Given the description of an element on the screen output the (x, y) to click on. 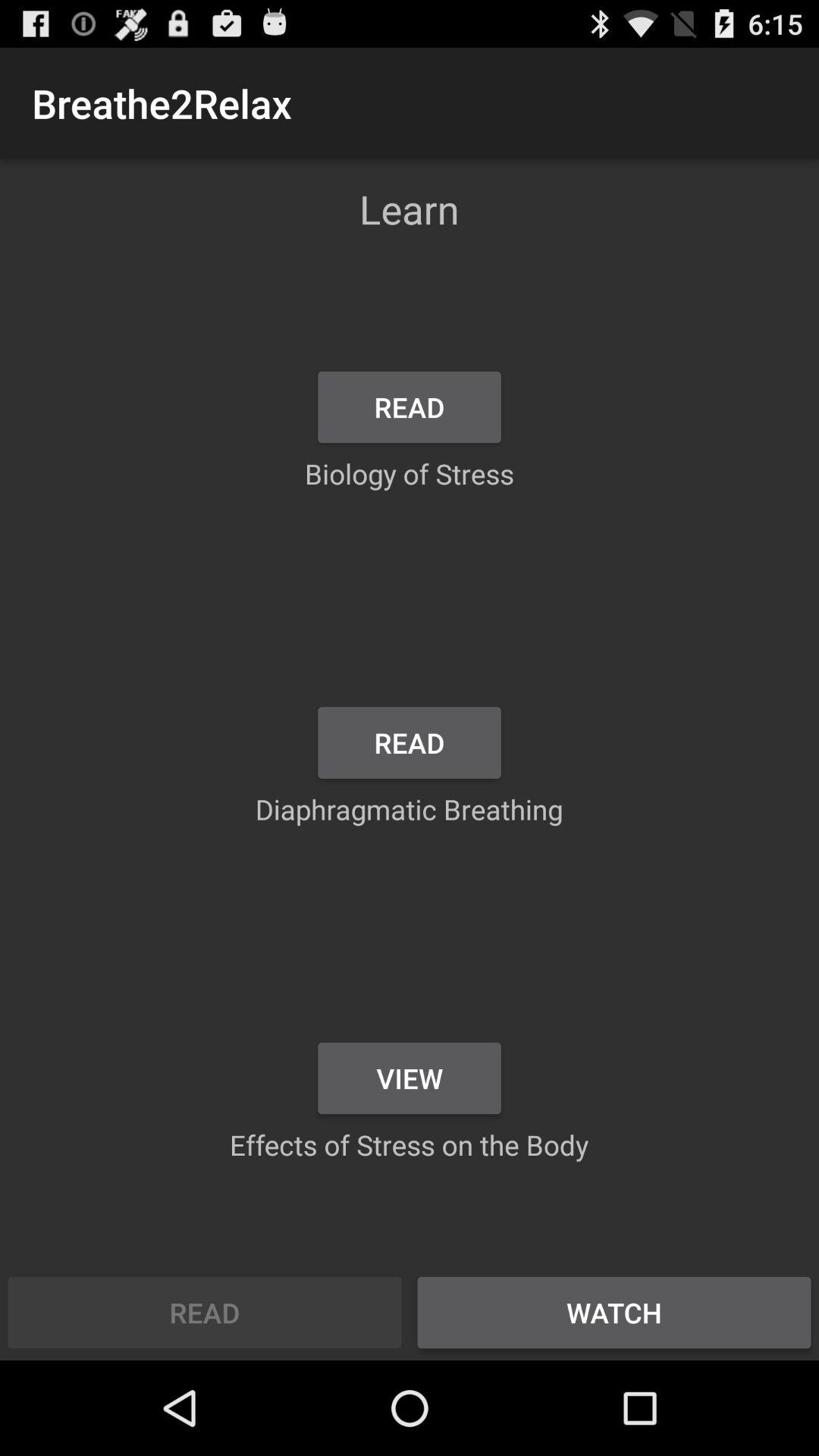
choose the watch item (614, 1312)
